Given the description of an element on the screen output the (x, y) to click on. 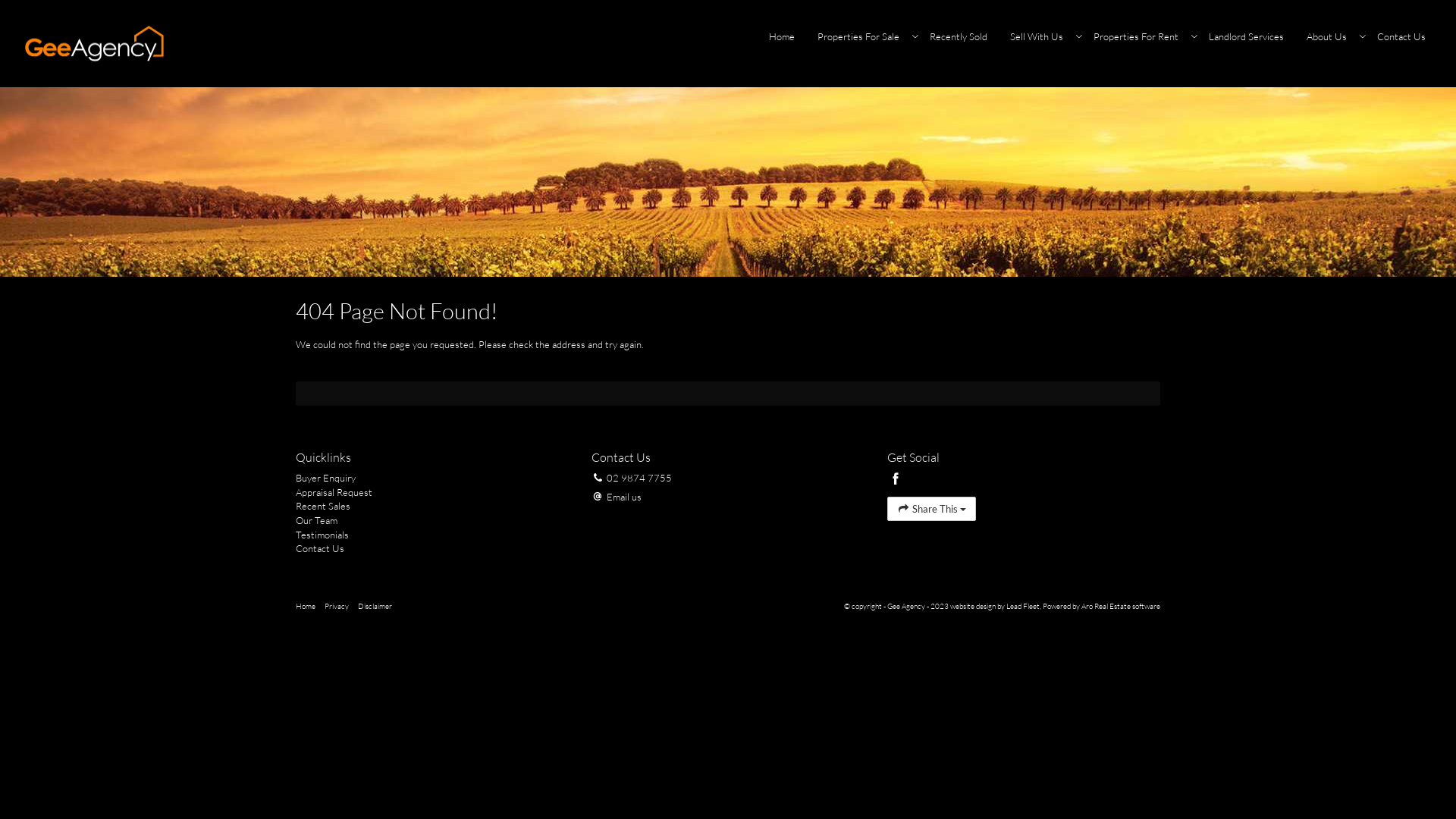
Lead Fleet Element type: text (1022, 606)
Contact Us Element type: text (1401, 36)
Testimonials Element type: text (431, 534)
Appraisal Request Element type: text (431, 492)
Properties For Rent Element type: text (1139, 36)
Gee Agency Element type: hover (94, 42)
Disclaimer Element type: text (374, 606)
Landlord Services Element type: text (1246, 36)
Home Element type: text (305, 606)
About Us Element type: text (1330, 36)
Share This Element type: text (931, 508)
Sell With Us Element type: text (1040, 36)
Our Team Element type: text (431, 520)
Email us Element type: text (623, 496)
Recent Sales Element type: text (431, 505)
Aro Real Estate software Element type: text (1120, 606)
Buyer Enquiry Element type: text (431, 477)
Home Element type: text (781, 36)
Properties For Sale Element type: text (862, 36)
Contact Us Element type: text (431, 548)
Privacy Element type: text (336, 606)
Recently Sold Element type: text (958, 36)
